Given the description of an element on the screen output the (x, y) to click on. 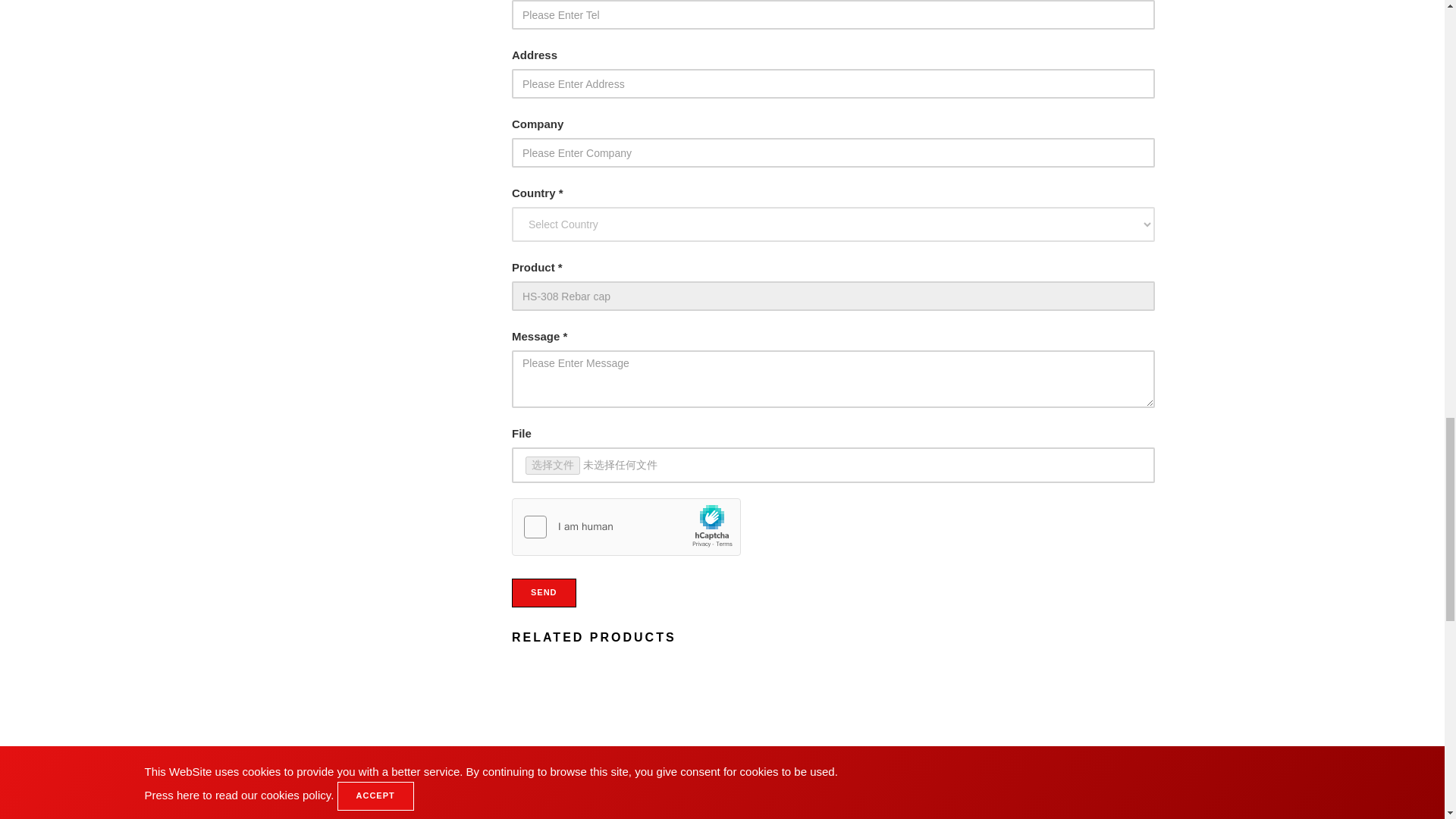
HS-308 Rebar cap (833, 296)
